Given the description of an element on the screen output the (x, y) to click on. 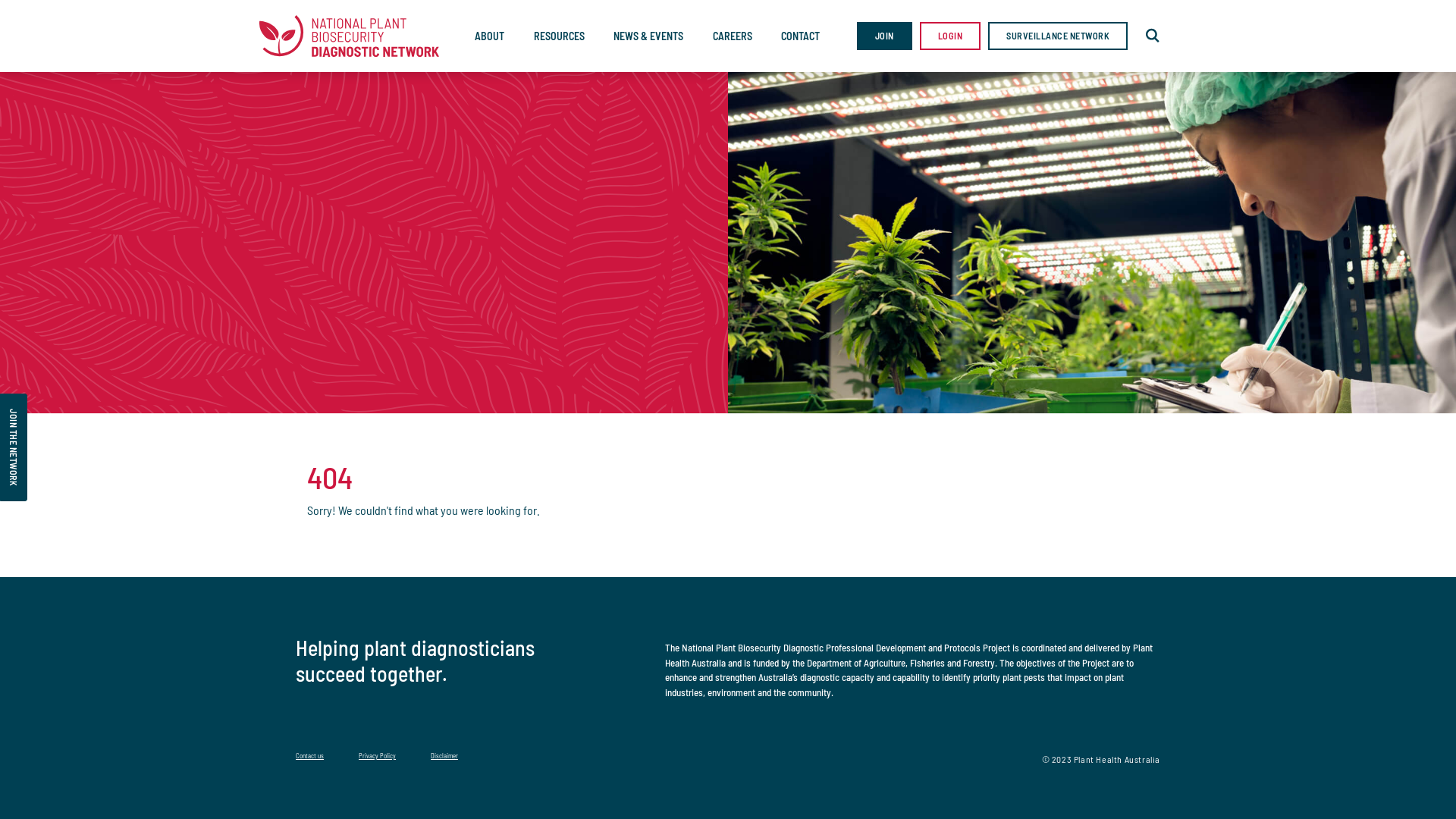
SURVEILLANCE NETWORK Element type: text (1057, 35)
Disclaimer Element type: text (444, 755)
JOIN Element type: text (884, 35)
CAREERS Element type: text (732, 35)
JOIN THE NETWORK Element type: text (53, 406)
CONTACT Element type: text (800, 35)
ABOUT Element type: text (489, 35)
Privacy Policy Element type: text (376, 755)
LOGIN Element type: text (949, 35)
NEWS & EVENTS Element type: text (647, 35)
Contact us Element type: text (309, 755)
RESOURCES Element type: text (559, 35)
